Given the description of an element on the screen output the (x, y) to click on. 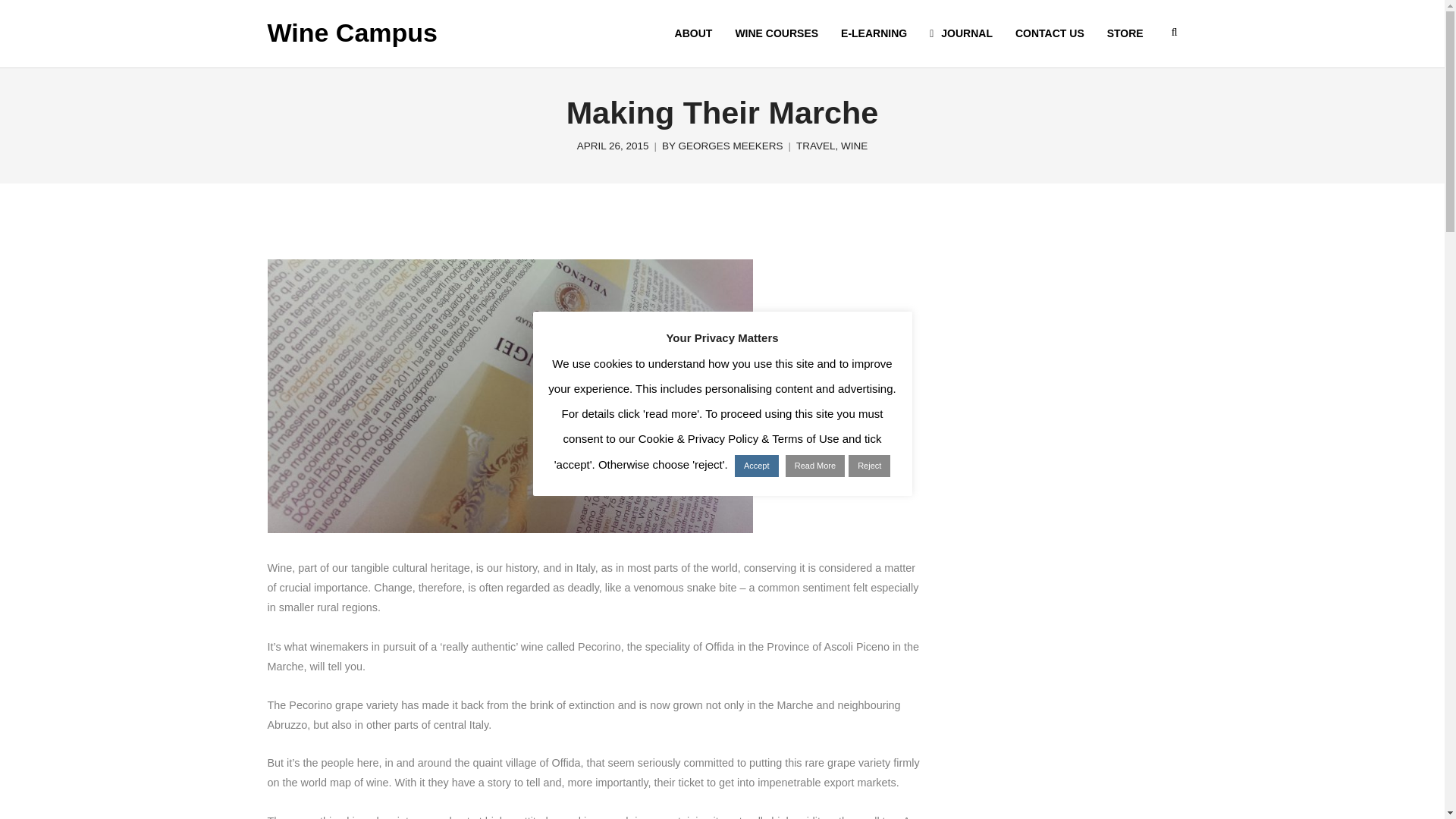
WINE (854, 146)
GEORGES MEEKERS (730, 146)
Wine Campus (352, 33)
JOURNAL (961, 33)
ABOUT (693, 33)
View all posts in Travel (815, 146)
E-LEARNING (873, 33)
View all posts in Wine (854, 146)
TRAVEL (815, 146)
WINE COURSES (776, 33)
CONTACT US (1050, 33)
